Given the description of an element on the screen output the (x, y) to click on. 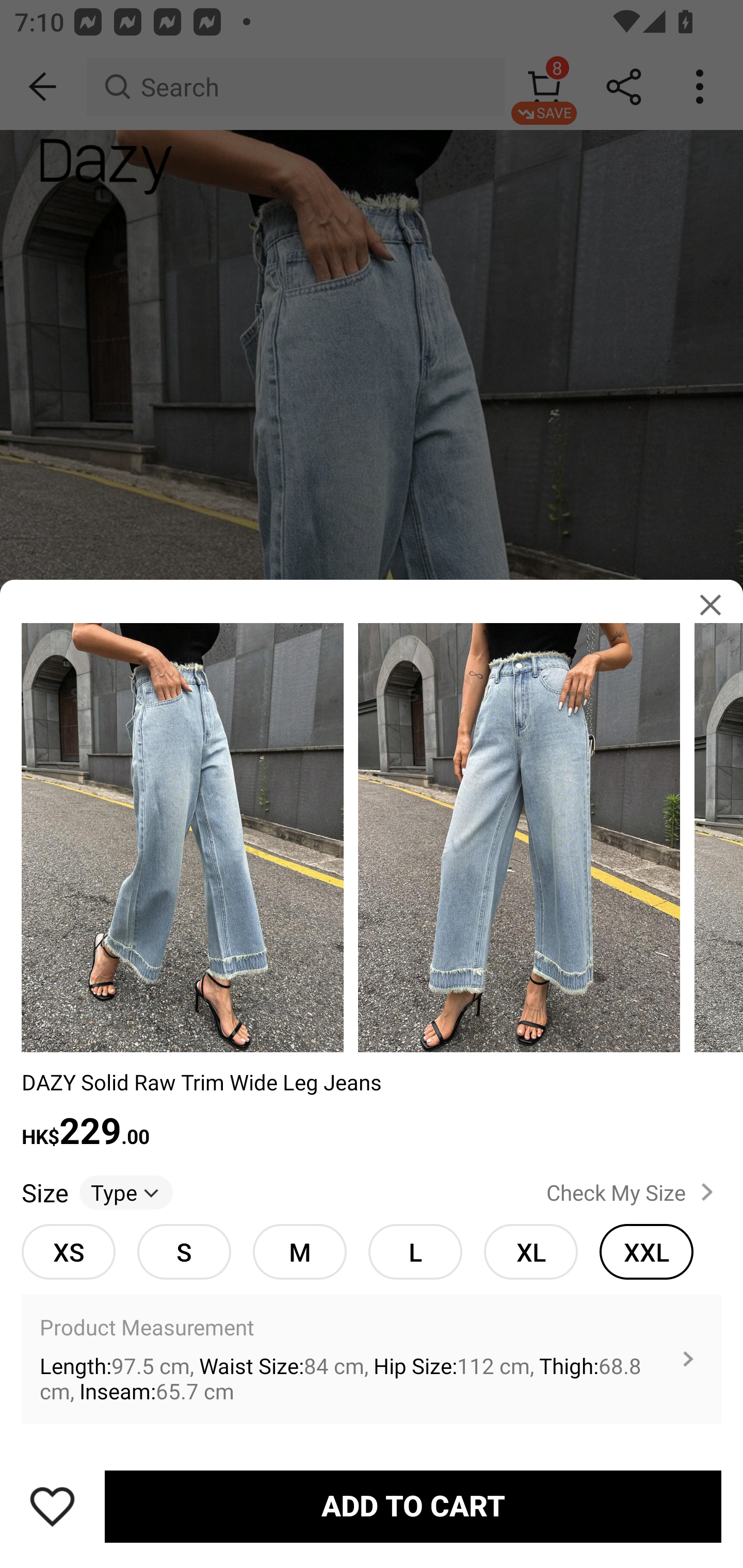
Size (44, 1192)
Type (126, 1192)
Check My Size (633, 1192)
XS Sunselected option (68, 1251)
S Munselected option (184, 1251)
M Lunselected option (299, 1251)
L XLunselected option (415, 1251)
XL XXLunselected option (530, 1251)
XXL selected option (646, 1251)
ADD TO CART (412, 1506)
Save (52, 1505)
